Given the description of an element on the screen output the (x, y) to click on. 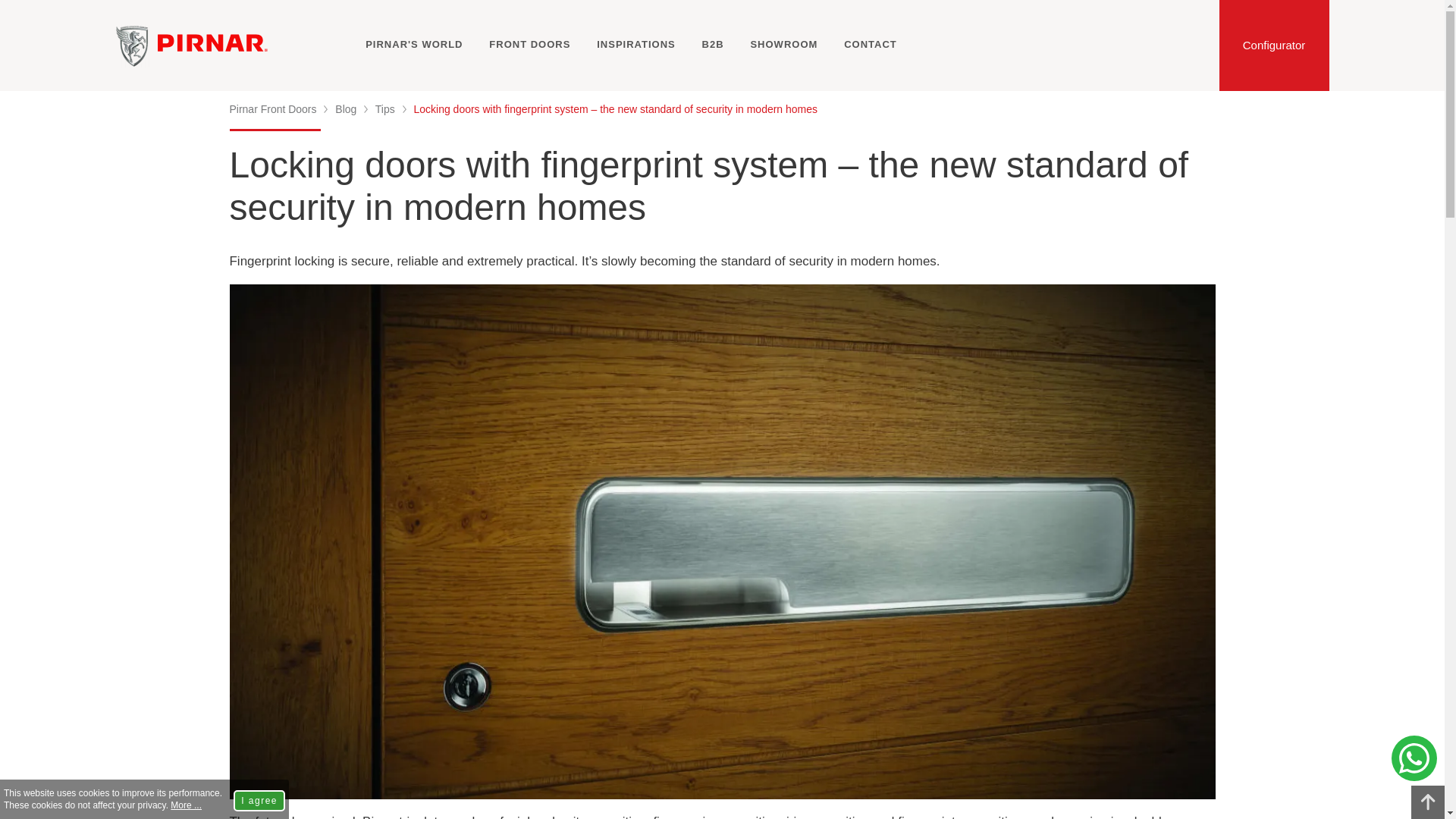
Pirnar (133, 45)
CONTACT (870, 44)
SHOWROOM (782, 44)
PIRNAR'S WORLD (414, 44)
FRONT DOORS (529, 44)
INSPIRATIONS (635, 44)
Blog (345, 109)
B2B (712, 44)
Pirnar Front Doors (271, 109)
Tips (384, 109)
Configurator (1274, 45)
